Given the description of an element on the screen output the (x, y) to click on. 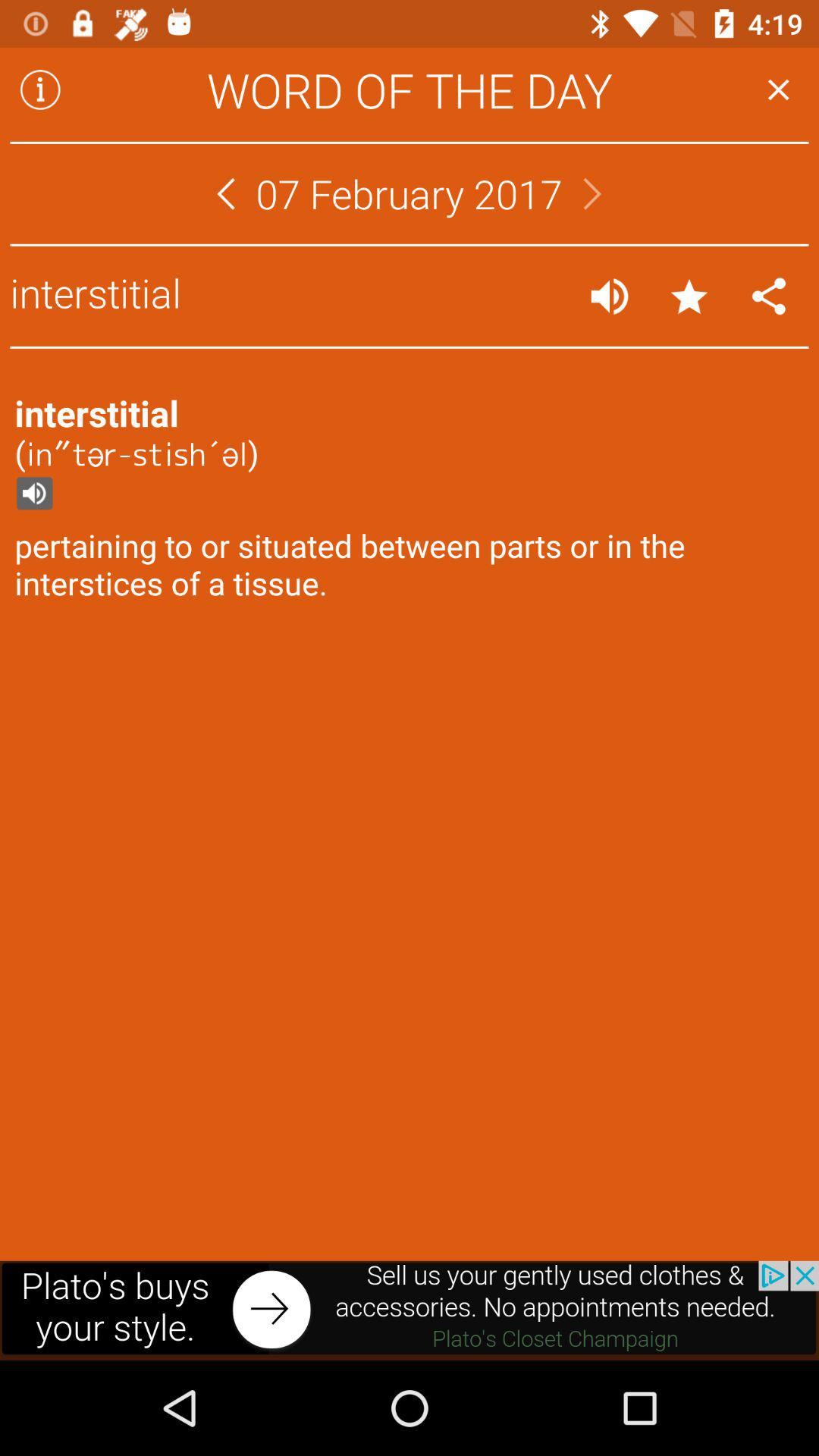
close the option (778, 89)
